Given the description of an element on the screen output the (x, y) to click on. 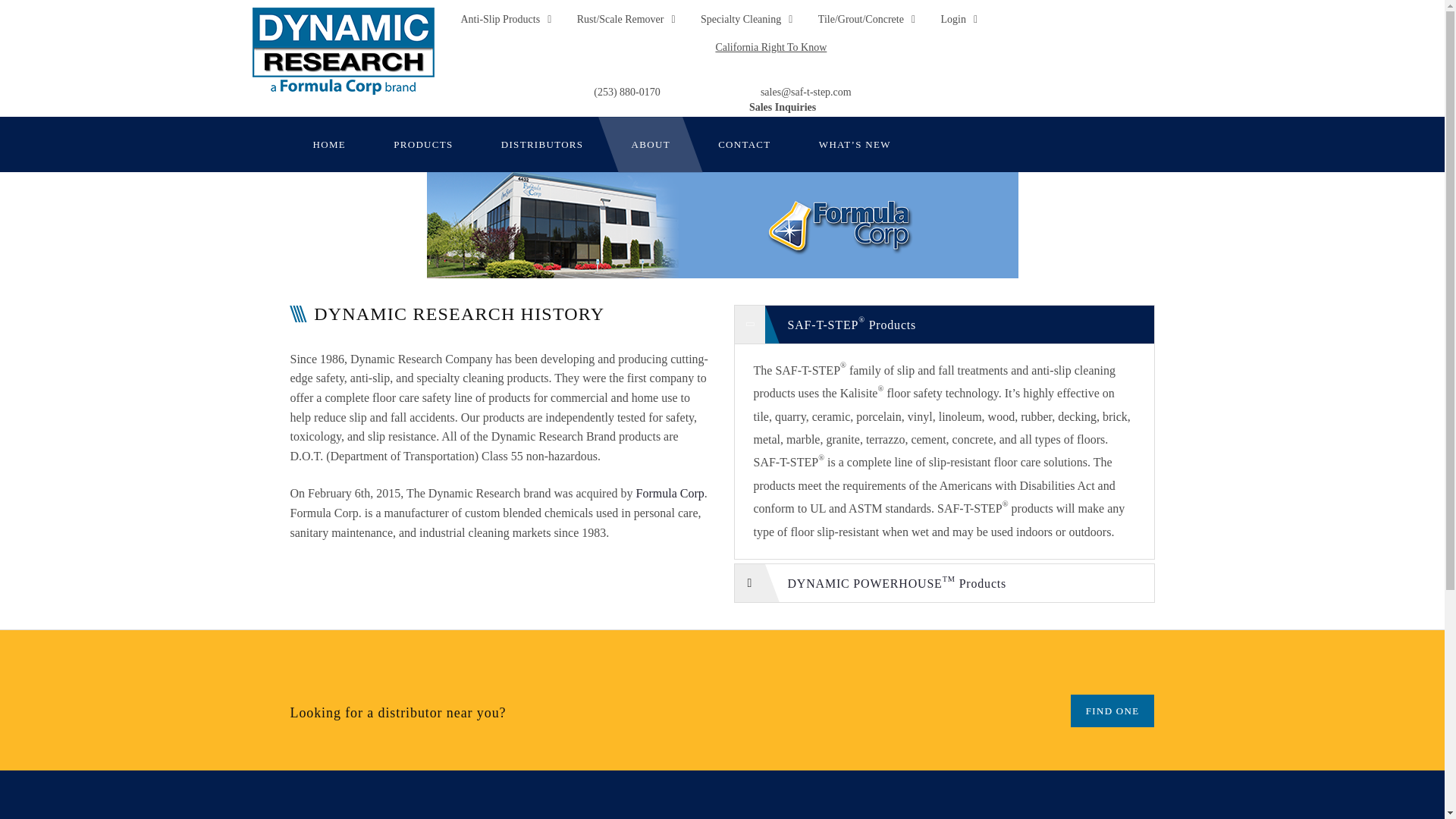
Specialty Cleaning (746, 19)
DISTRIBUTORS (543, 144)
Login (959, 19)
Anti-Slip Products (506, 19)
Formula Corp (670, 492)
PRODUCTS (423, 144)
DYNAMIC POWERHOUSETM Products (943, 578)
California Right To Know (770, 47)
HOME (328, 144)
FIND ONE (1112, 710)
Search (37, 17)
CONTACT (744, 144)
ABOUT (650, 144)
